Given the description of an element on the screen output the (x, y) to click on. 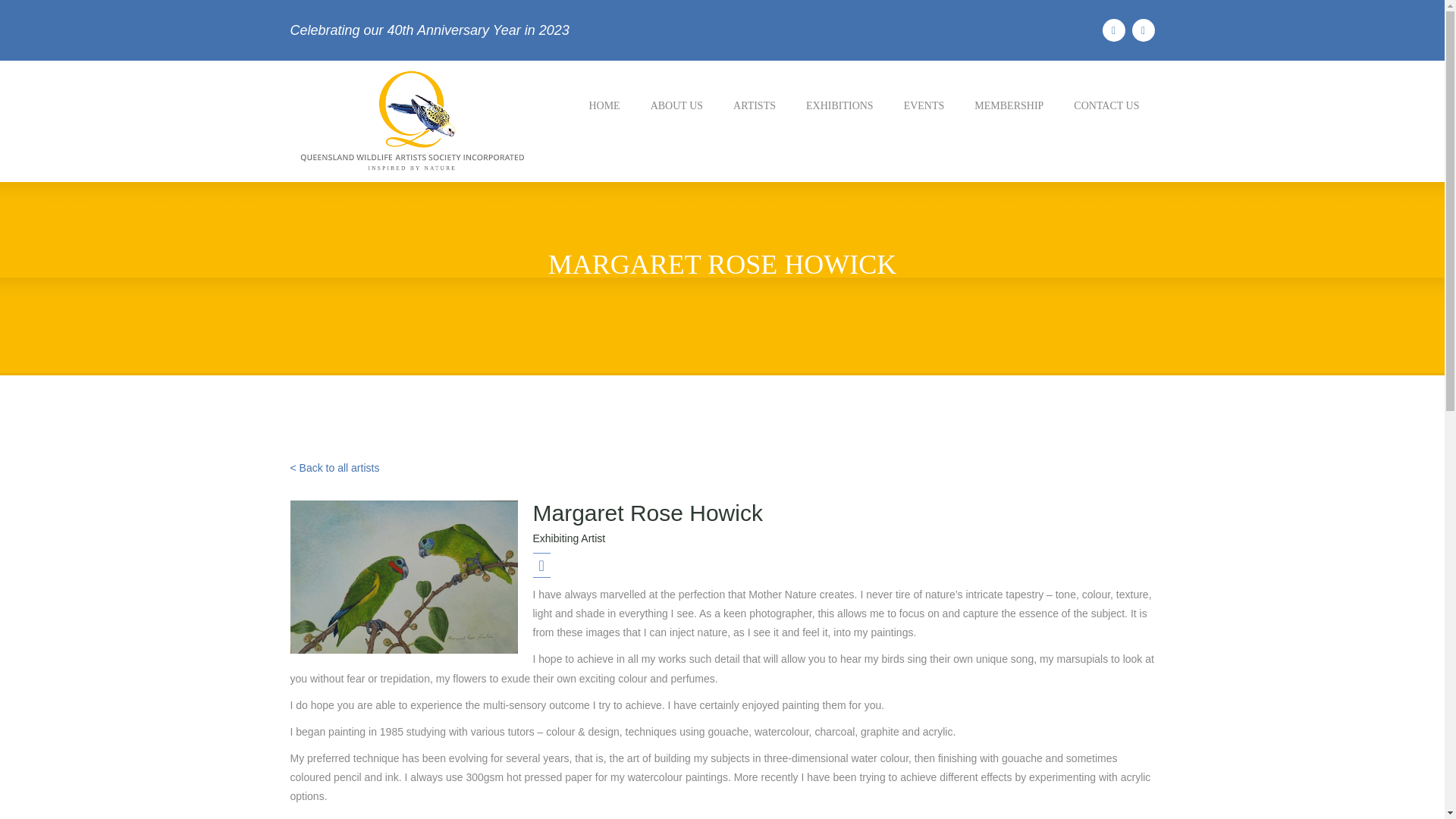
EXHIBITIONS (839, 105)
Queensland Wildlife Artists Society Inc - Inspired by Nature (410, 119)
ABOUT US (675, 105)
